Given the description of an element on the screen output the (x, y) to click on. 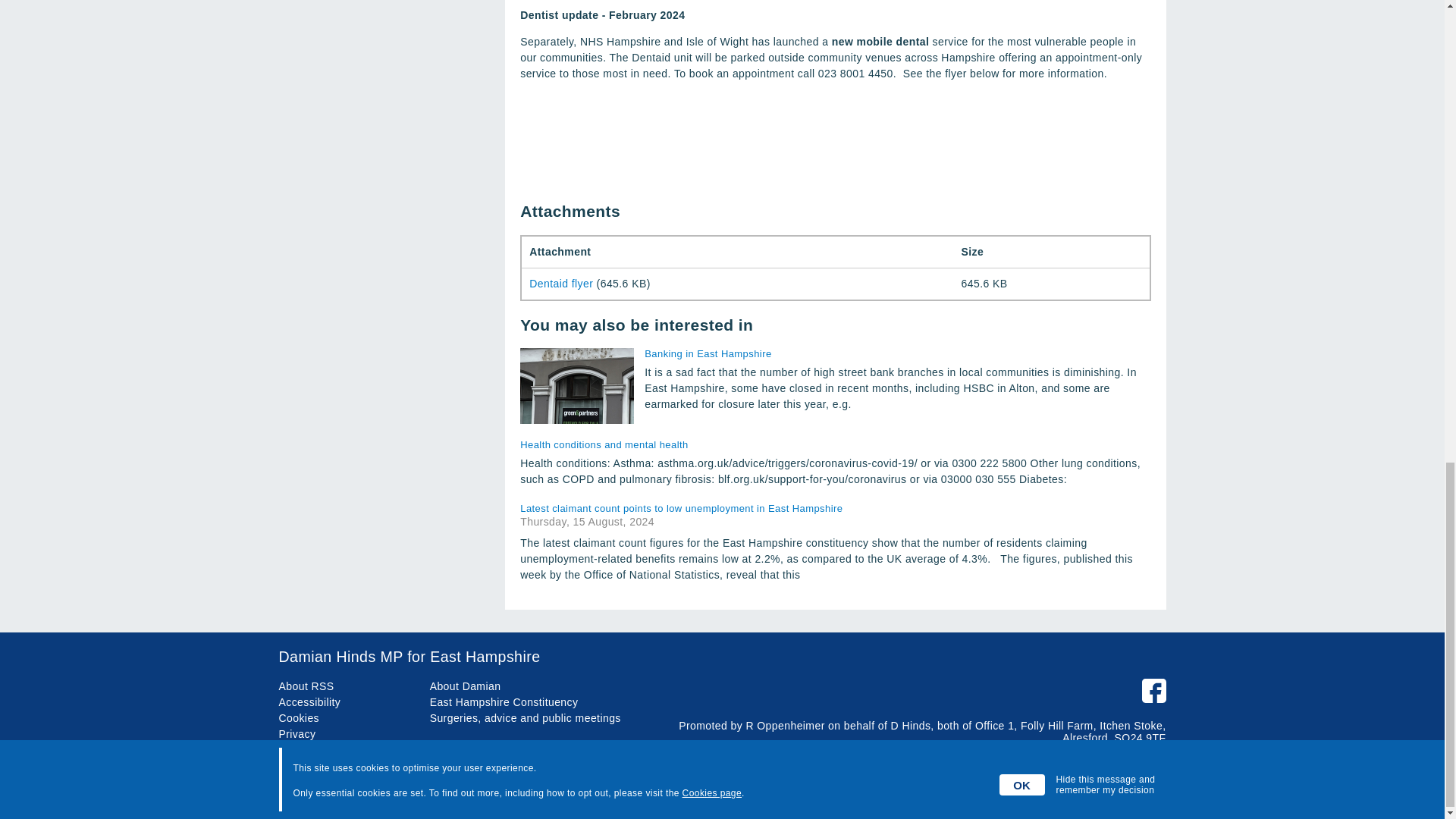
Health conditions and mental health (834, 444)
Bluetree (1145, 793)
Banking in East Hampshire (897, 353)
Surgeries, advice and public meetings (525, 717)
East Hampshire Constituency (503, 702)
Privacy (297, 734)
About RSS (306, 686)
Cookies (299, 717)
About Damian (464, 686)
